Given the description of an element on the screen output the (x, y) to click on. 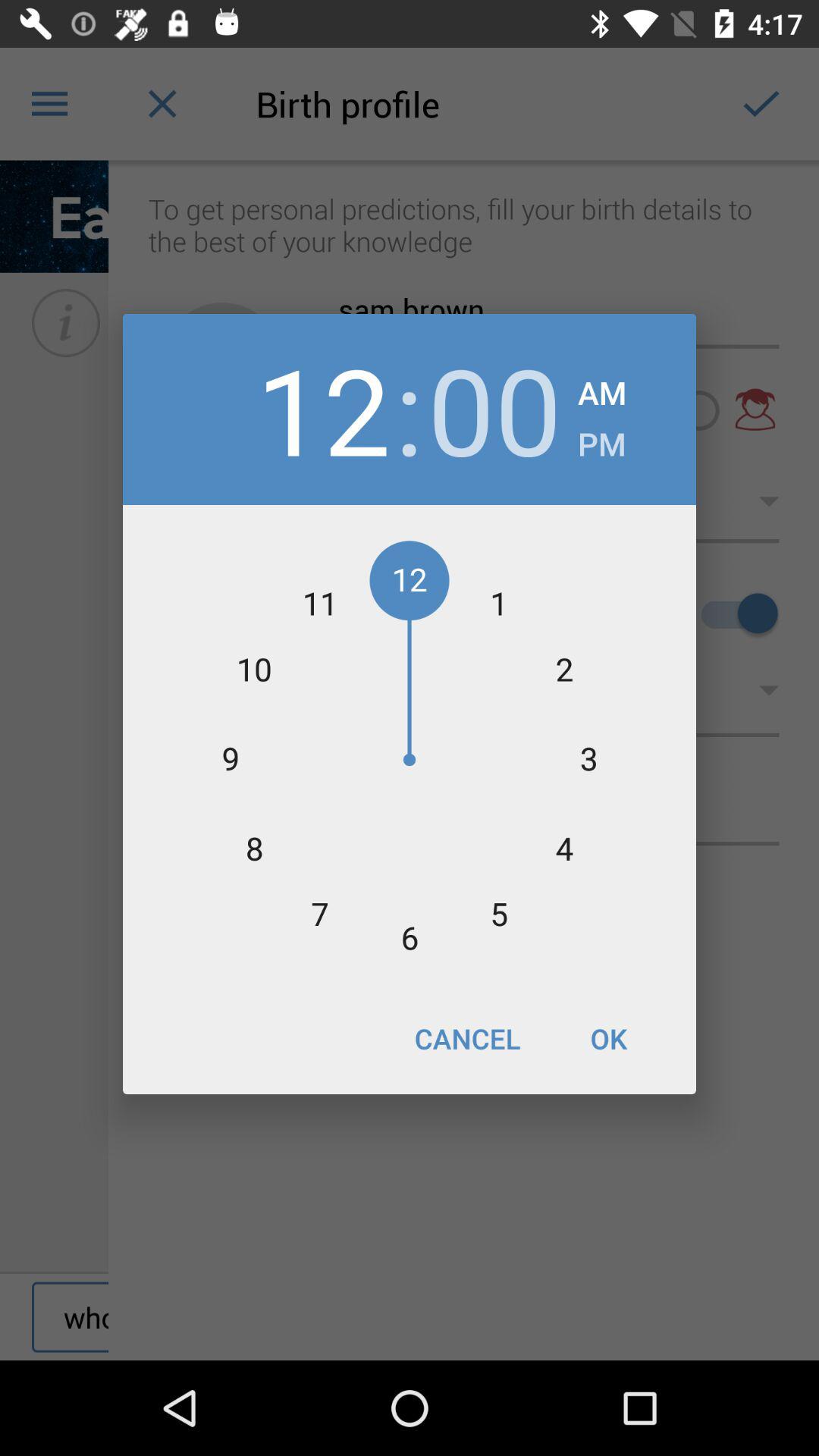
jump to the am (601, 388)
